Given the description of an element on the screen output the (x, y) to click on. 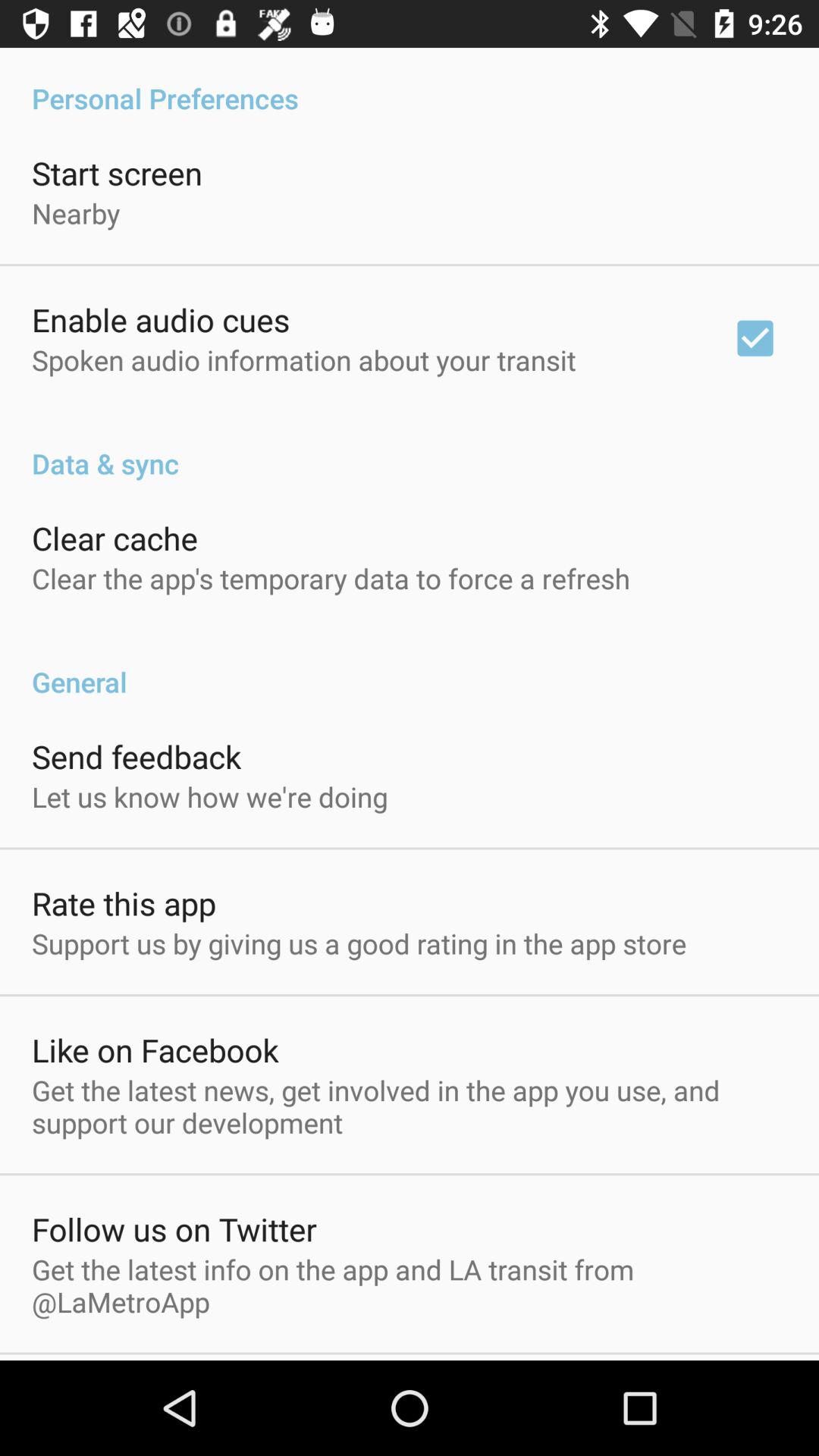
turn off icon below the start screen item (75, 213)
